Given the description of an element on the screen output the (x, y) to click on. 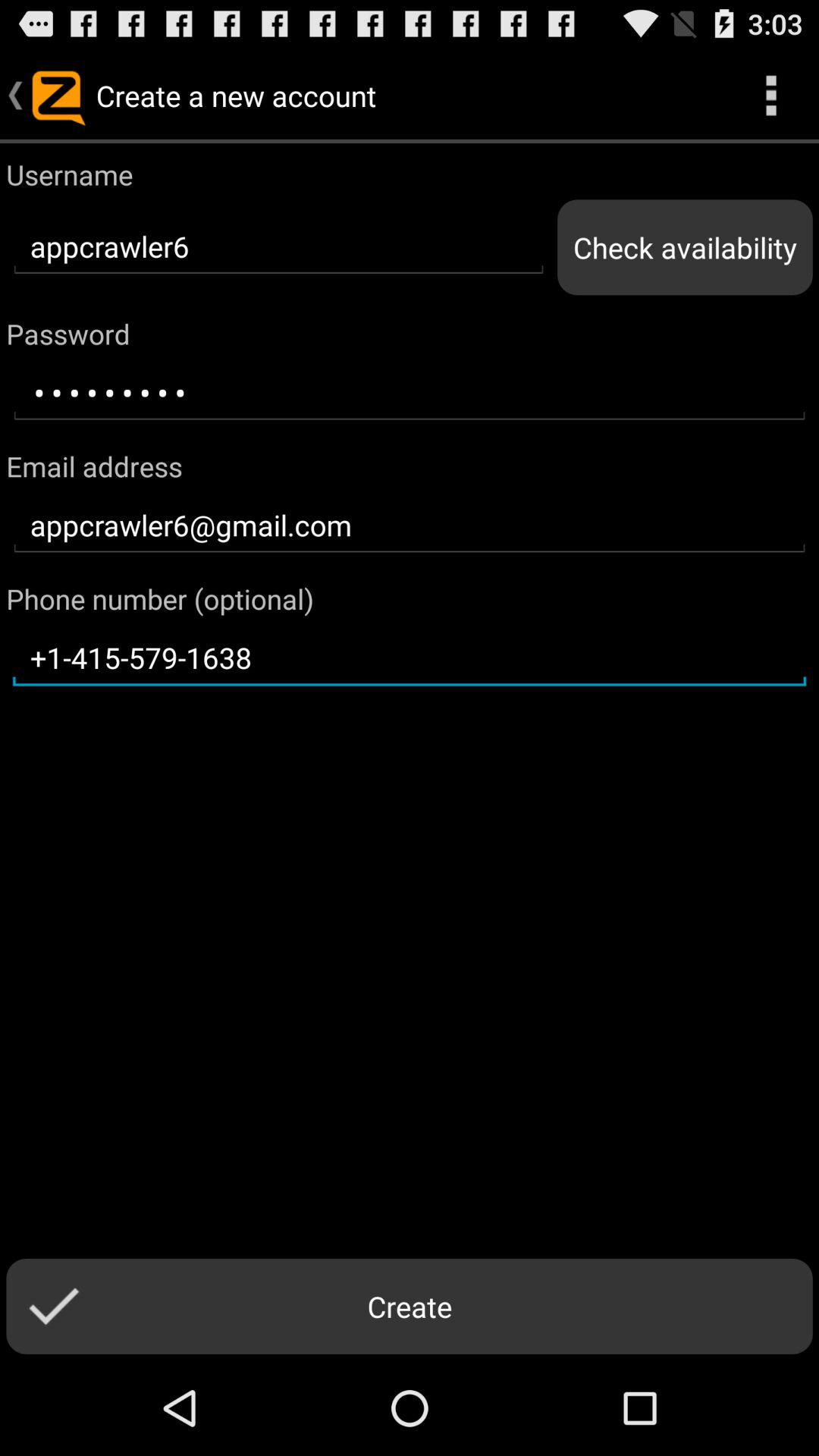
click on the text field below phone number (409, 658)
click on the options icon which is on the top right side (771, 95)
select text box below password text (409, 393)
click on the text field below  email address (409, 526)
